Given the description of an element on the screen output the (x, y) to click on. 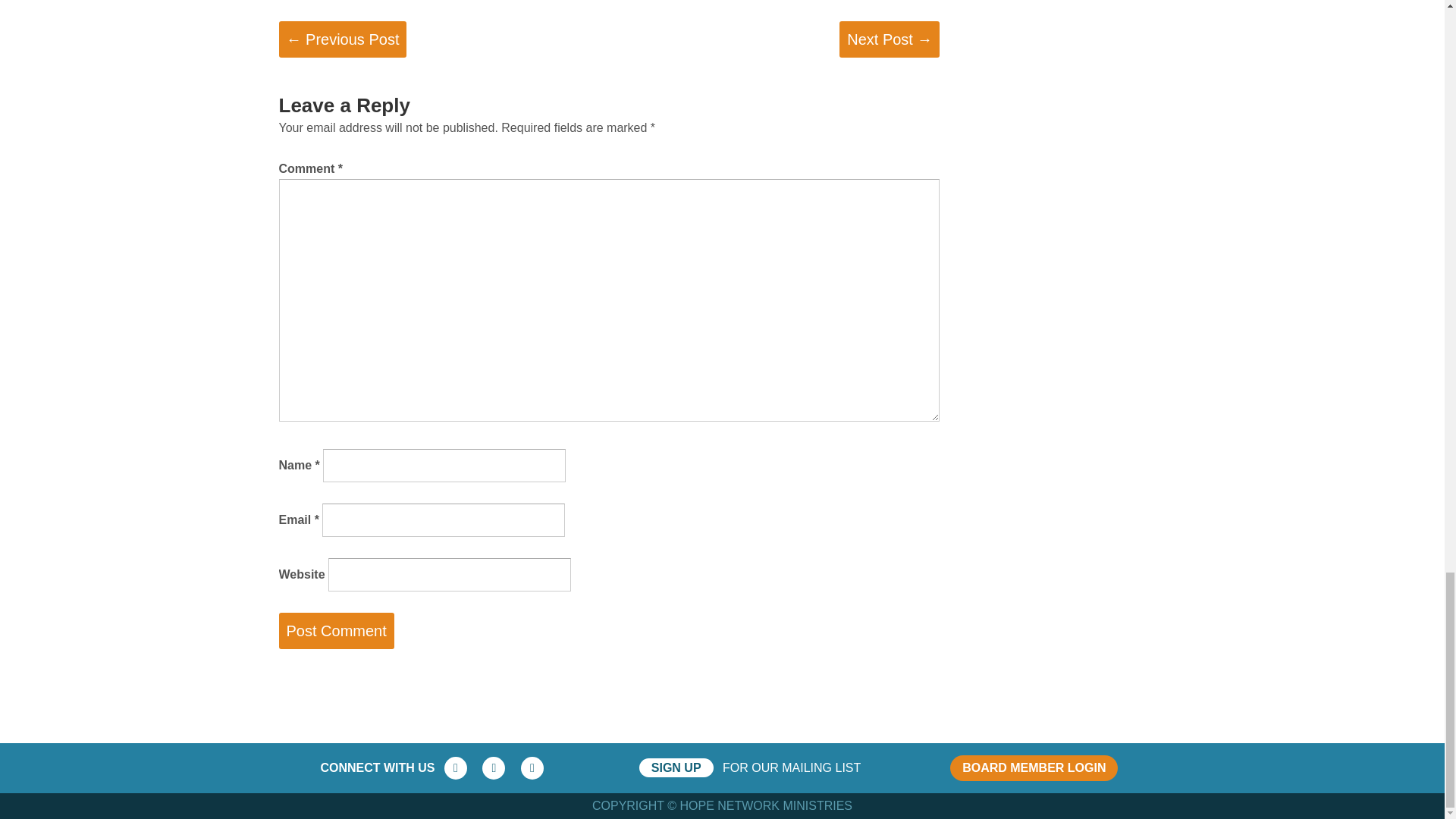
Post Comment (336, 631)
